Given the description of an element on the screen output the (x, y) to click on. 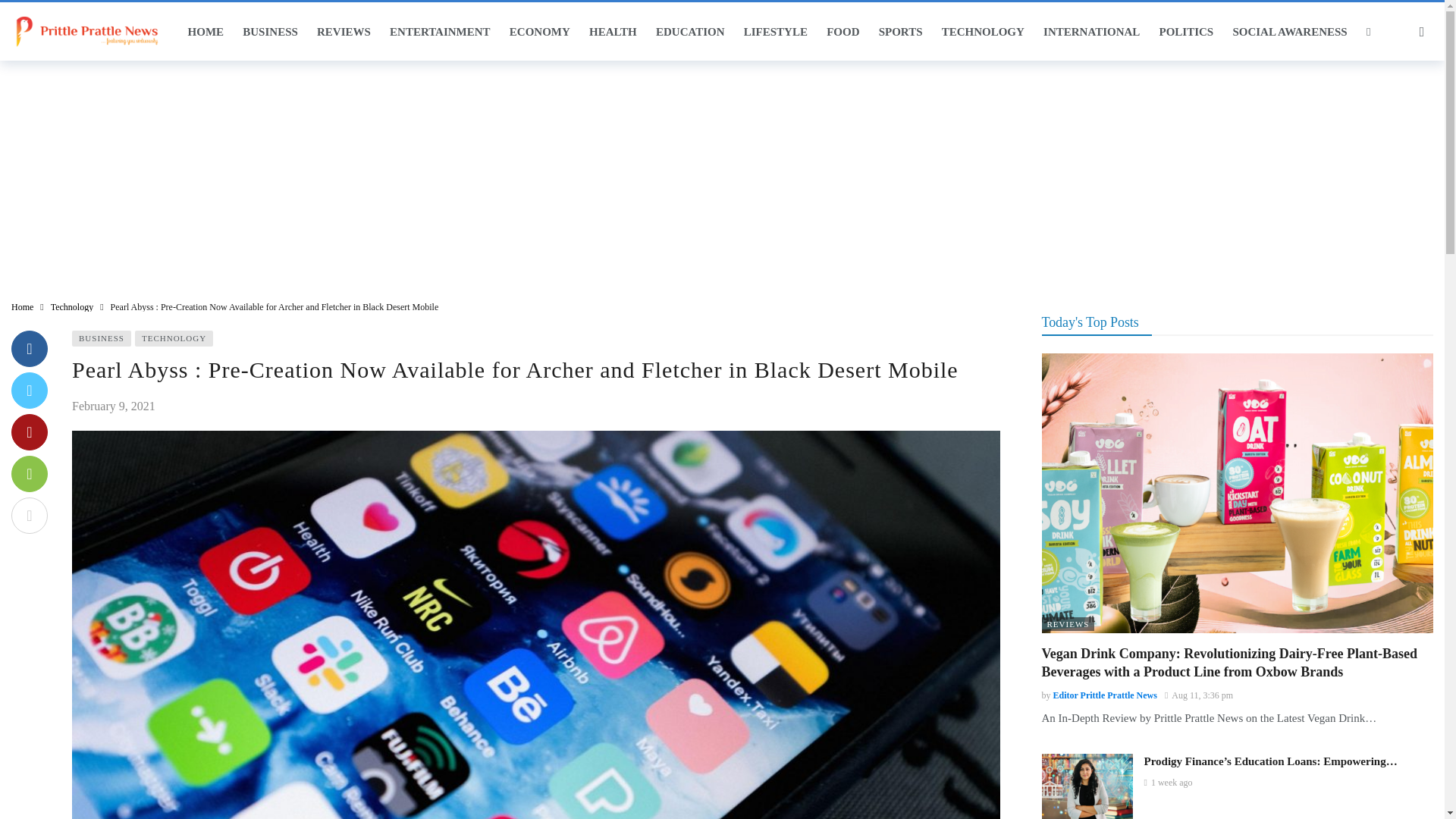
TECHNOLOGY (982, 31)
HEALTH (612, 31)
SOCIAL AWARENESS (1289, 31)
REVIEWS (343, 31)
LIFESTYLE (775, 31)
POLITICS (1186, 31)
SPORTS (900, 31)
ECONOMY (539, 31)
ENTERTAINMENT (439, 31)
EDUCATION (689, 31)
